Given the description of an element on the screen output the (x, y) to click on. 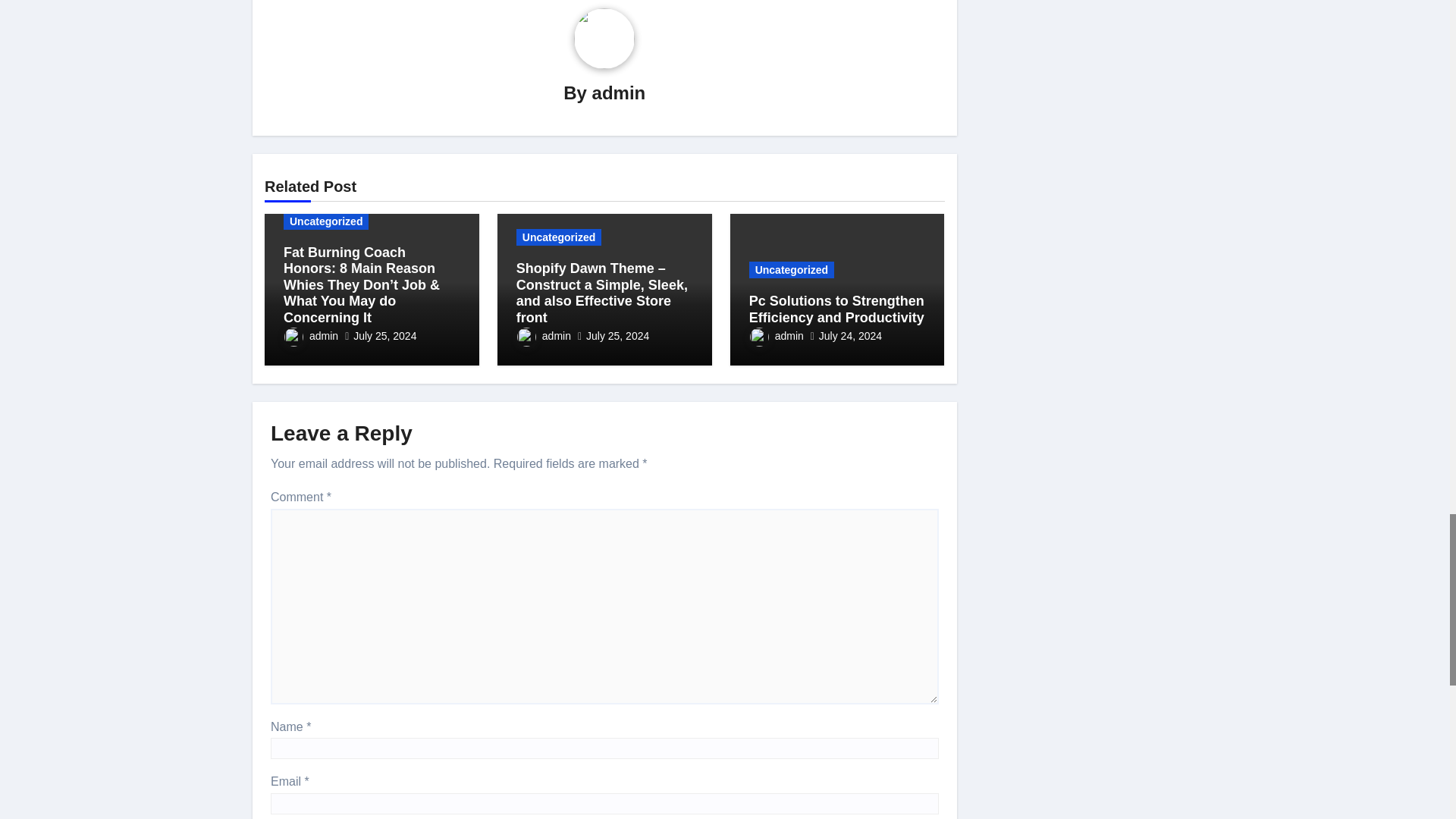
Uncategorized (325, 221)
admin (619, 92)
July 25, 2024 (384, 336)
admin (310, 336)
